Given the description of an element on the screen output the (x, y) to click on. 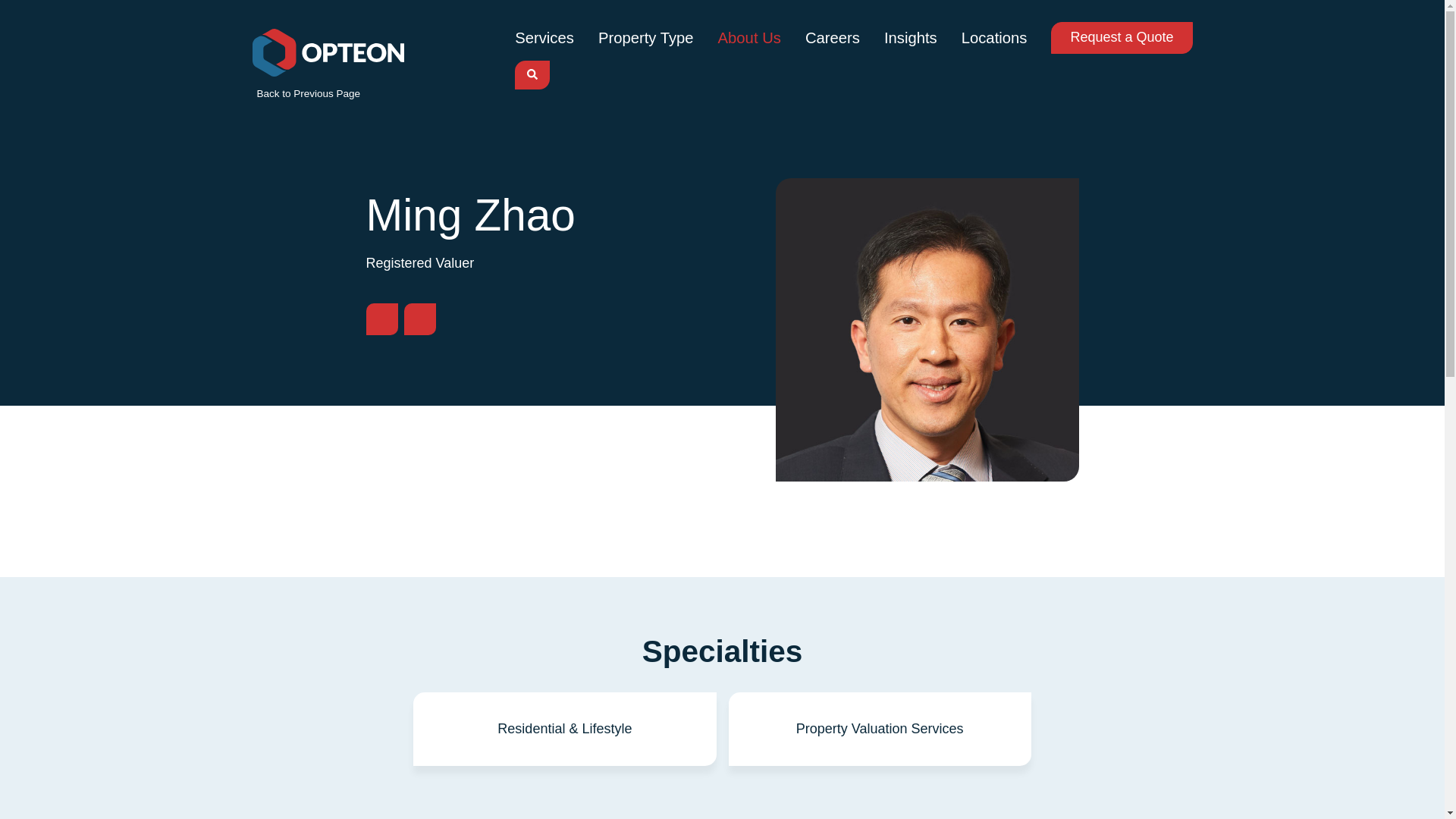
About Us (748, 37)
Back to Previous Page (305, 93)
Services (544, 37)
Careers (832, 37)
Insights (910, 37)
Locations (993, 37)
Request a Quote (1121, 38)
Property Valuation Services (879, 728)
Property Type (646, 37)
